Given the description of an element on the screen output the (x, y) to click on. 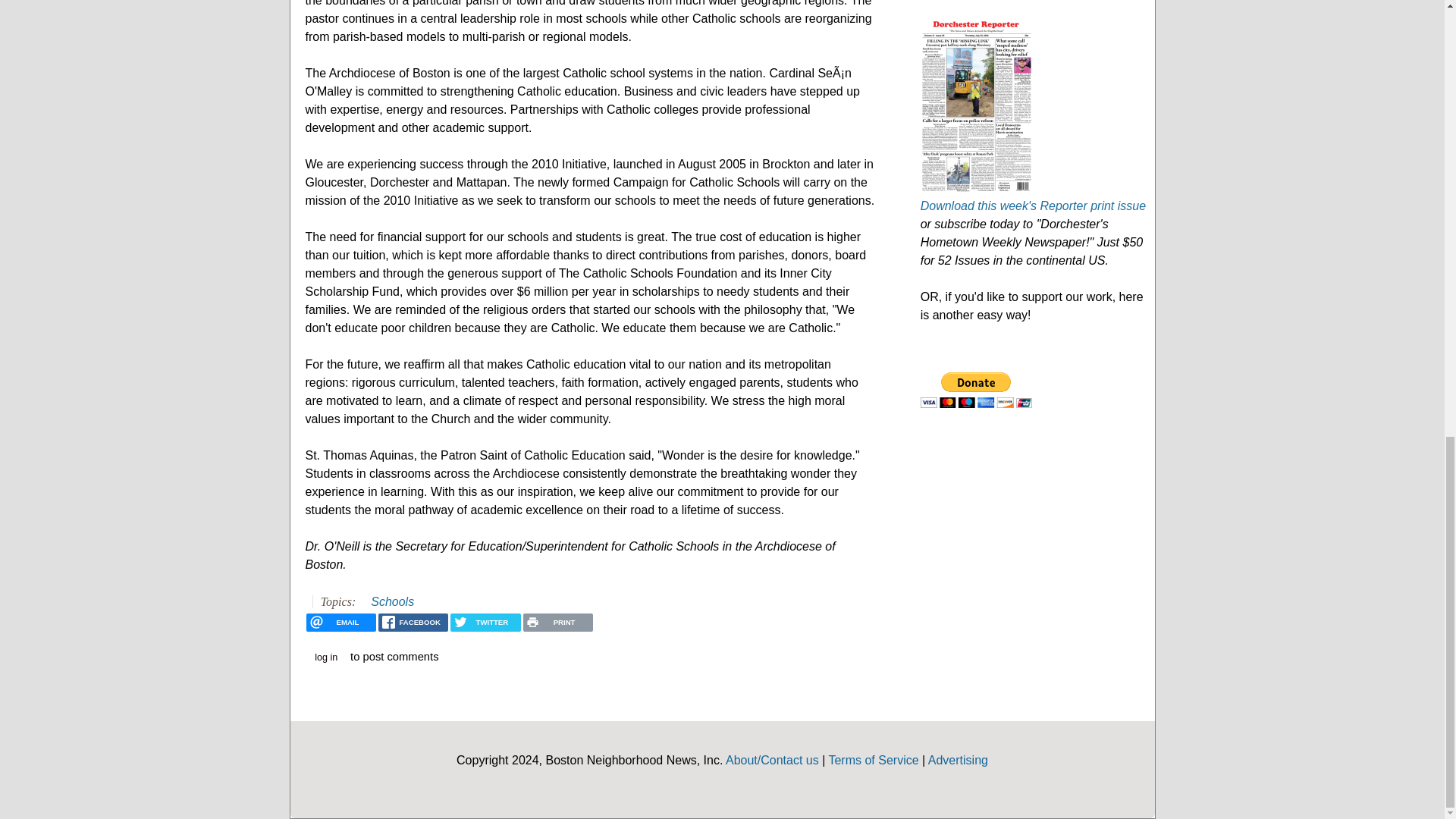
PRINT (557, 622)
Schools (392, 601)
FACEBOOK (413, 622)
Download this week's Reporter print issue (1032, 205)
Terms of Service (873, 759)
log in (325, 658)
TWITTER (484, 622)
EMAIL (340, 622)
Advertising (958, 759)
PayPal - The safer, easier way to pay online! (976, 389)
